Given the description of an element on the screen output the (x, y) to click on. 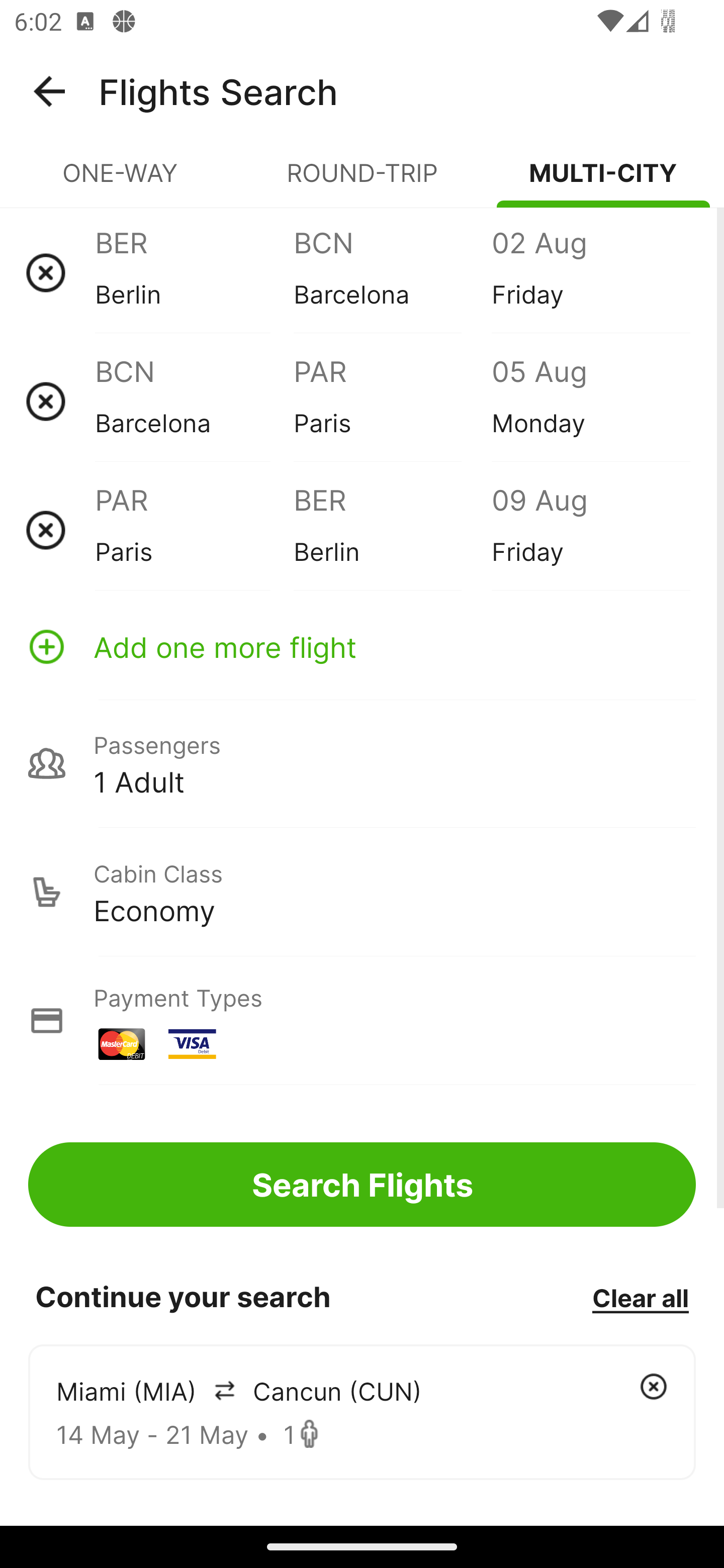
ONE-WAY (120, 180)
ROUND-TRIP (361, 180)
MULTI-CITY (603, 180)
BER Berlin (193, 272)
BCN Barcelona (392, 272)
02 Aug Friday (590, 272)
BCN Barcelona (193, 401)
PAR Paris (392, 401)
05 Aug Monday (590, 401)
PAR Paris (193, 529)
BER Berlin (392, 529)
09 Aug Friday (590, 529)
Add one more flight (362, 646)
Passengers 1 Adult (362, 762)
Cabin Class Economy (362, 891)
Payment Types (362, 1020)
Search Flights (361, 1184)
Clear all (640, 1297)
